Given the description of an element on the screen output the (x, y) to click on. 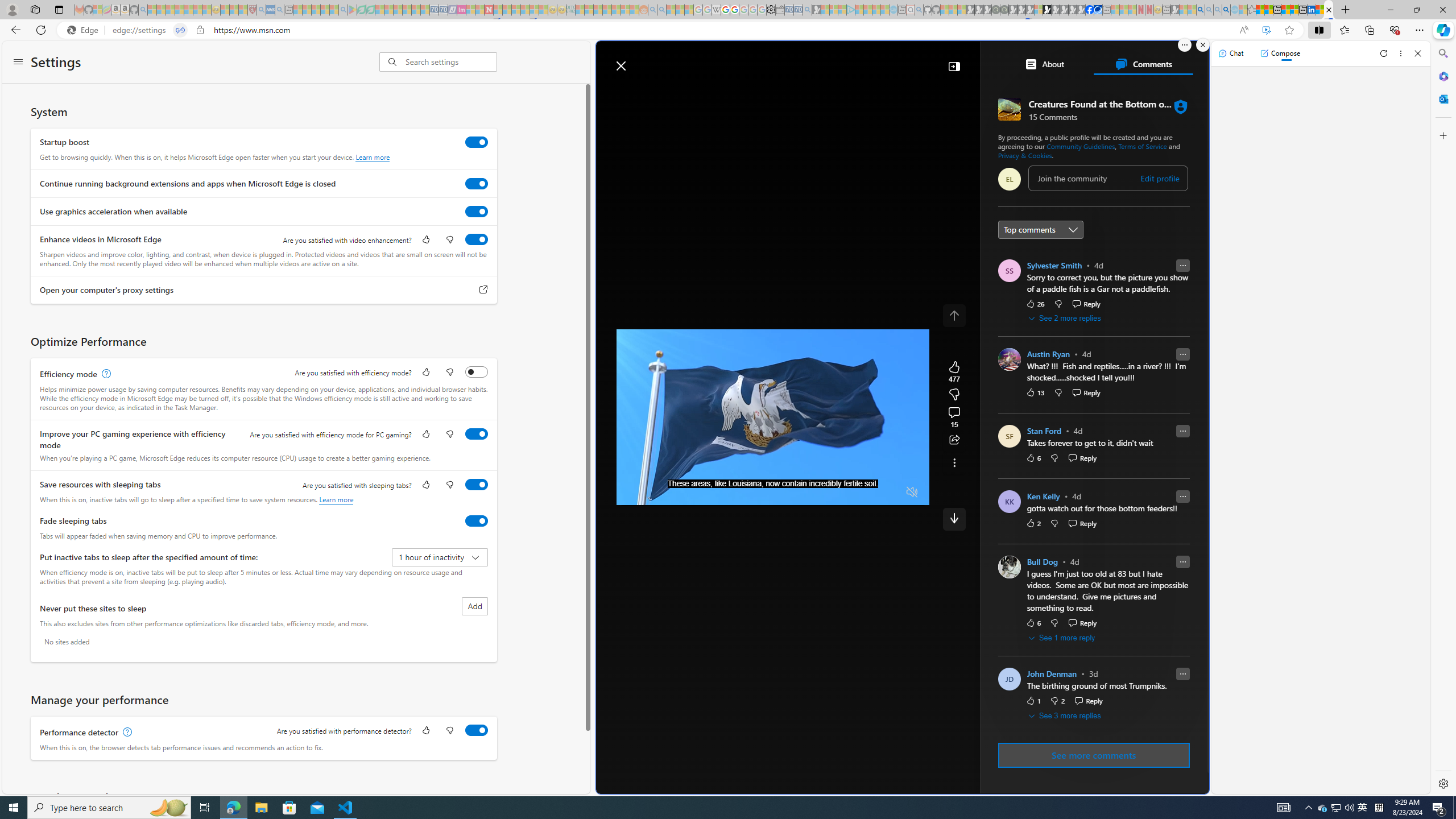
Seek Back (656, 492)
Efficiency mode, learn more (104, 374)
See 2 more replies (1065, 318)
Chat (1230, 52)
Open navigation menu (643, 92)
Search settings (451, 61)
